Given the description of an element on the screen output the (x, y) to click on. 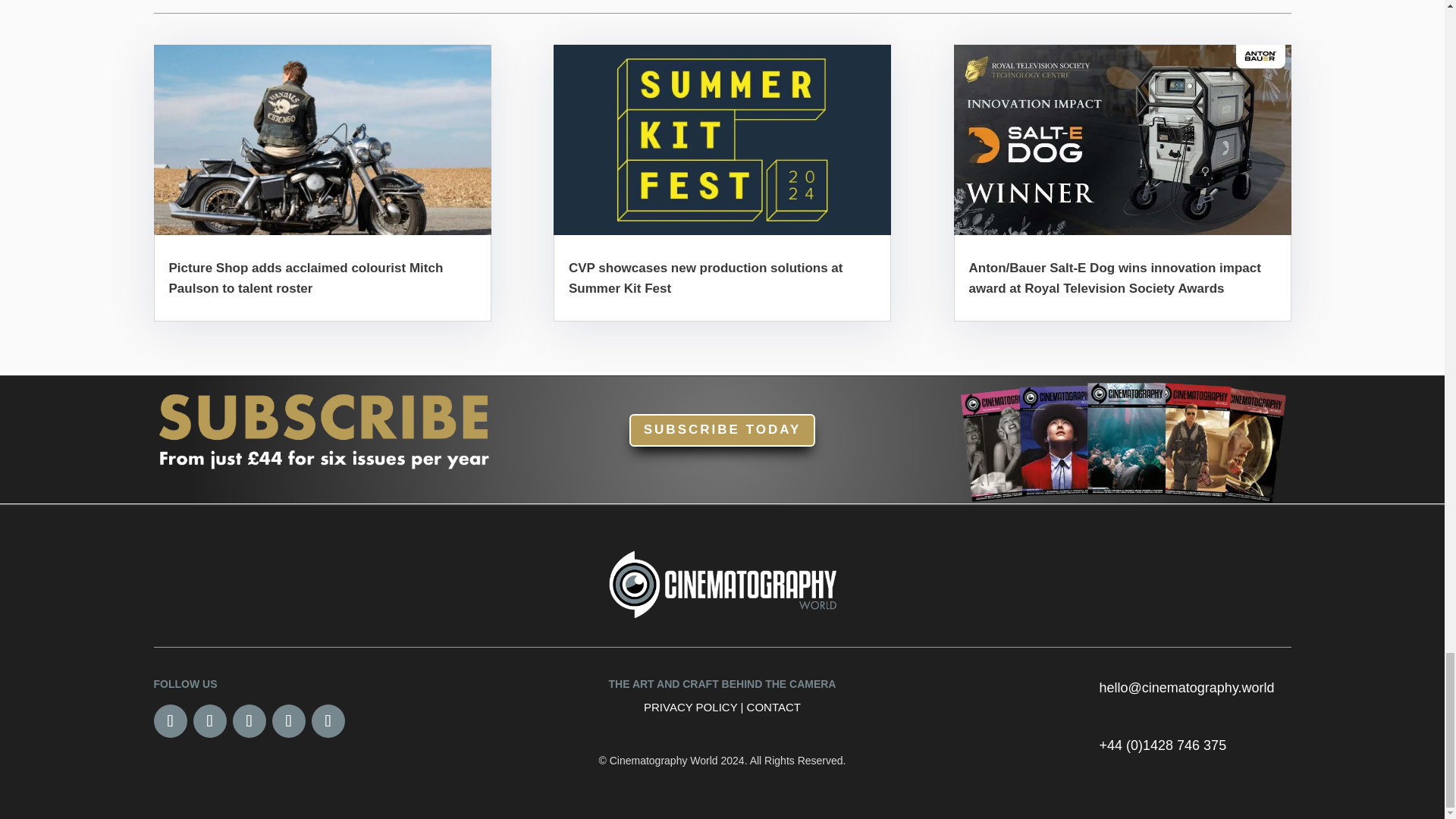
subscribe-wide-web-mags (1122, 439)
sub1 (321, 427)
